Given the description of an element on the screen output the (x, y) to click on. 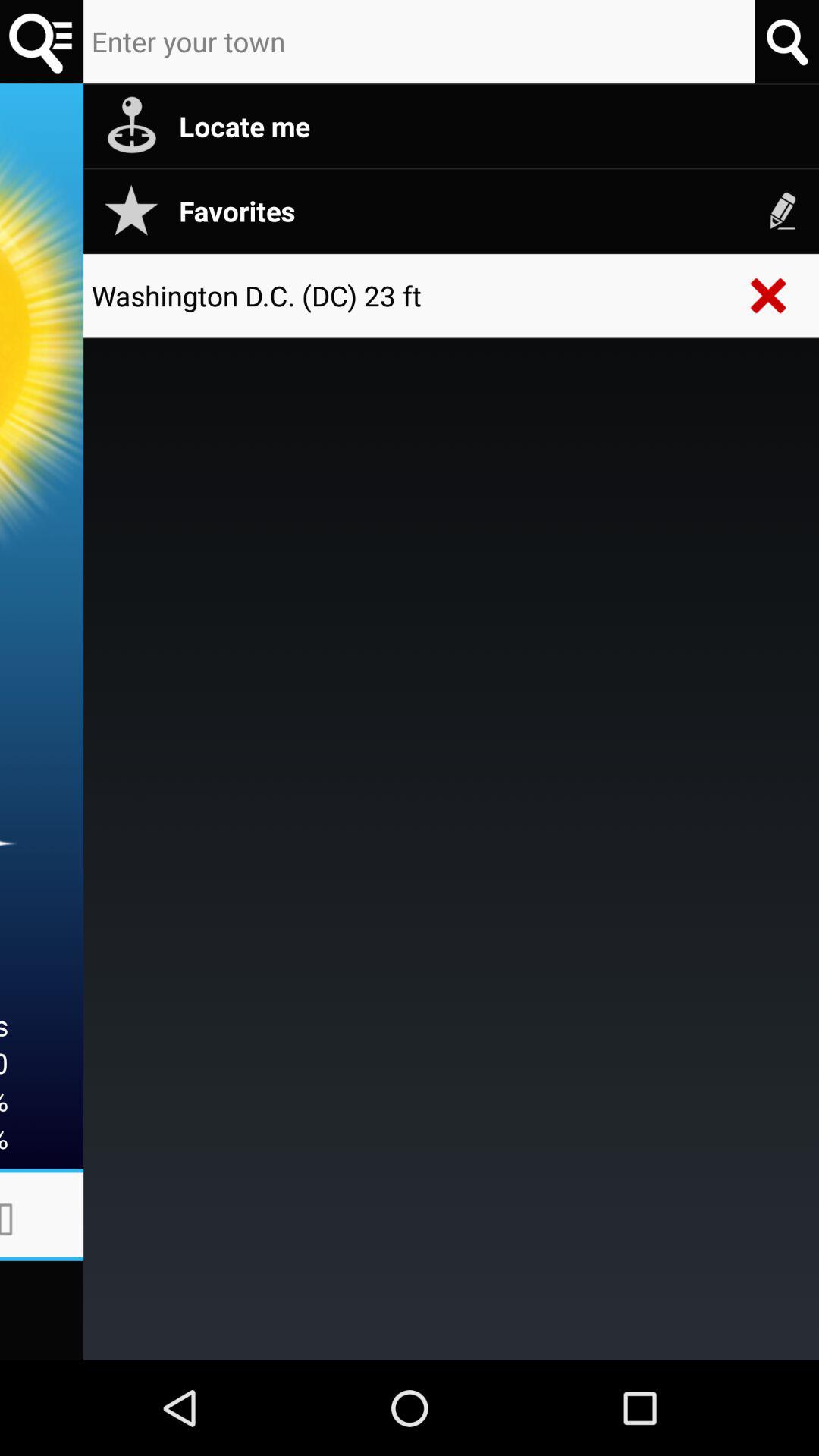
searches using inputted text (787, 41)
